Given the description of an element on the screen output the (x, y) to click on. 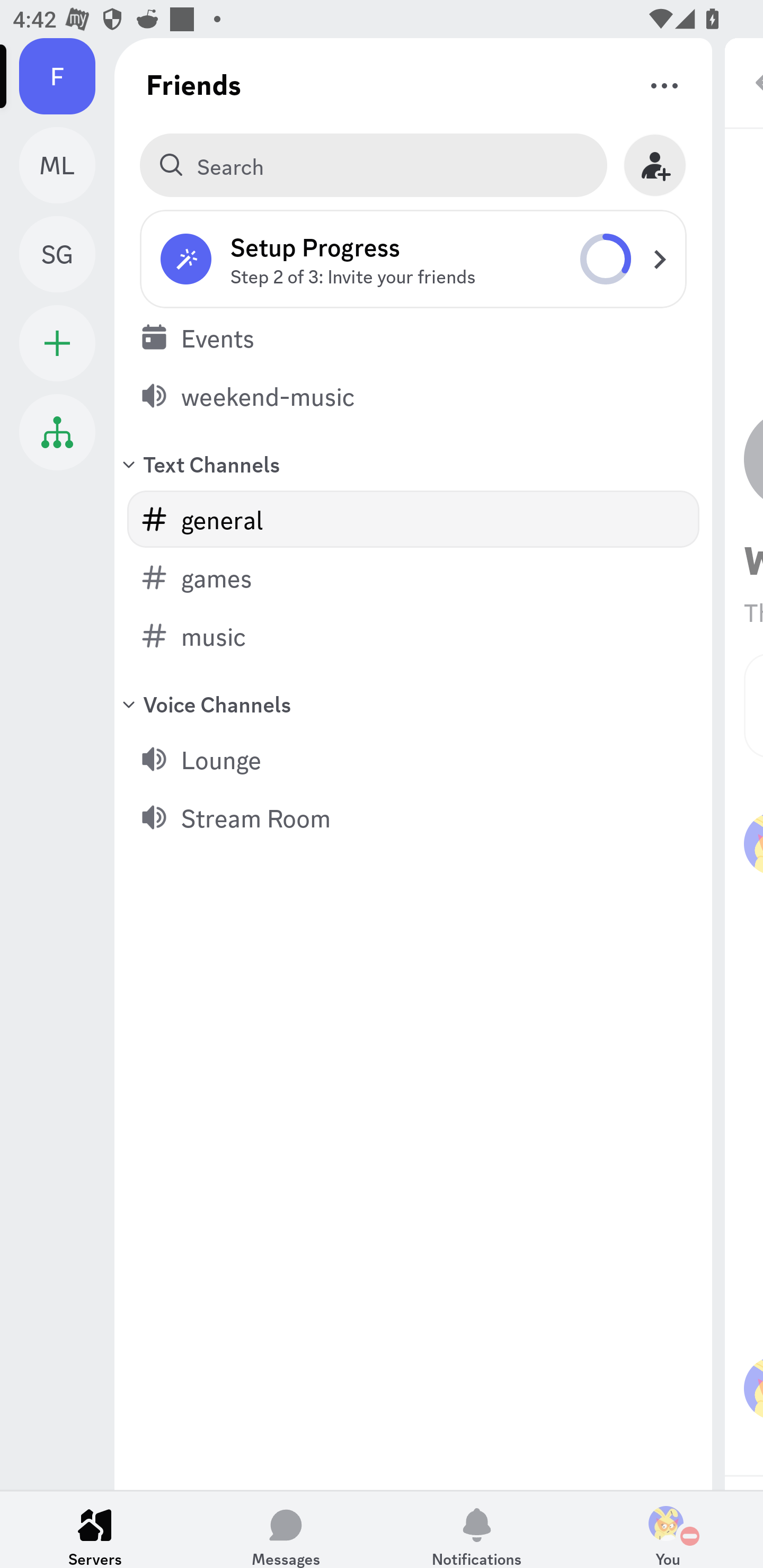
  Friends F (66, 75)
Friends (193, 83)
  Music Lovers ML (66, 165)
Search (373, 165)
Invite (654, 165)
  Study Group SG (66, 253)
Add a Server (57, 343)
Events (413, 336)
Student Hub (57, 431)
Text Channels (412, 462)
general (text channel) general (413, 518)
games (text channel) games (413, 576)
music (text channel) music (413, 635)
Voice Channels (412, 702)
Lounge (voice channel), 0 users Lounge (413, 758)
Stream Room (voice channel), 0 users Stream Room (413, 817)
Servers (95, 1529)
